Given the description of an element on the screen output the (x, y) to click on. 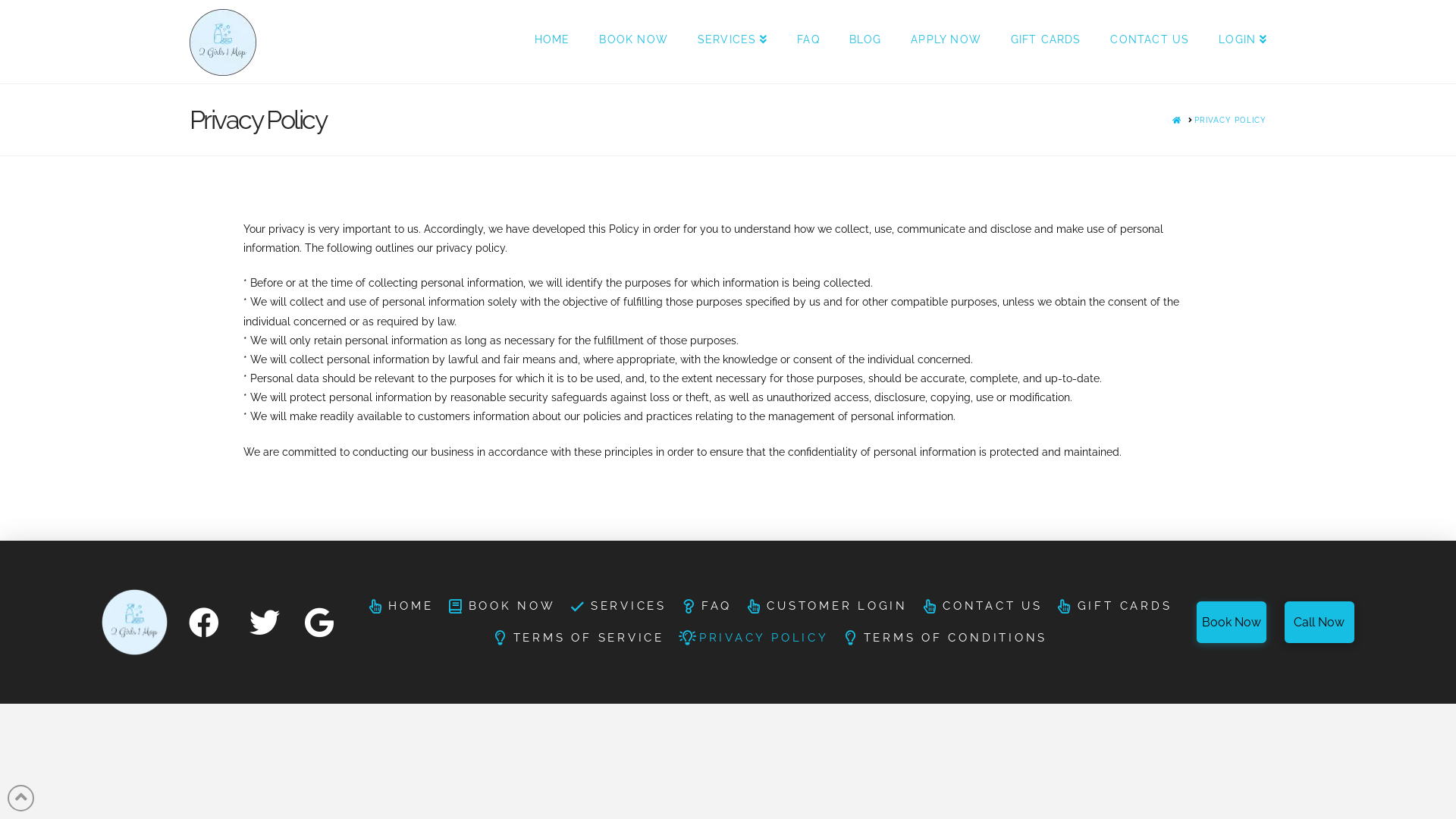
PRIVACY POLICY Element type: text (752, 638)
Book Now Element type: text (1231, 622)
FAQ Element type: text (807, 41)
CONTACT US Element type: text (1149, 41)
GIFT CARDS Element type: text (1045, 41)
PRIVACY POLICY Element type: text (1230, 120)
Back to Top Element type: hover (20, 797)
BOOK NOW Element type: text (500, 606)
SERVICES Element type: text (616, 606)
APPLY NOW Element type: text (945, 41)
BOOK NOW Element type: text (632, 41)
FAQ Element type: text (704, 606)
CONTACT US Element type: text (980, 606)
BLOG Element type: text (865, 41)
LOGIN Element type: text (1234, 41)
HOME Element type: text (1176, 120)
SERVICES Element type: text (731, 41)
HOME Element type: text (551, 41)
HOME Element type: text (399, 606)
GIFT CARDS Element type: text (1112, 606)
CUSTOMER LOGIN Element type: text (825, 606)
TERMS OF SERVICE Element type: text (576, 638)
TERMS OF CONDITIONS Element type: text (943, 638)
Call Now Element type: text (1319, 622)
